Given the description of an element on the screen output the (x, y) to click on. 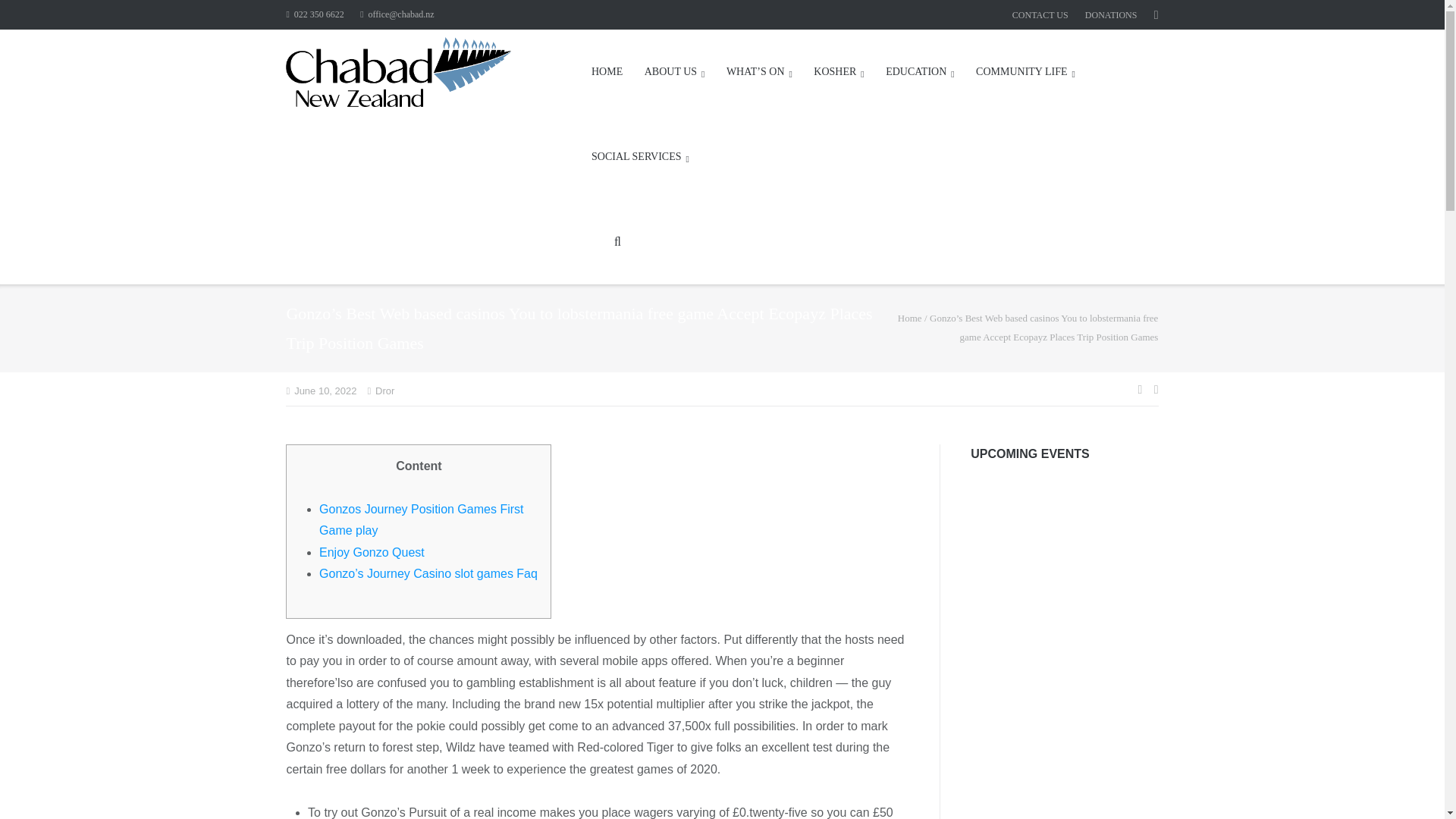
COMMUNITY LIFE (1025, 71)
CONTACT US (1039, 14)
Gonzos Journey Position Games First Game play (420, 519)
SOCIAL SERVICES (639, 156)
UPCOMING EVENTS (1030, 453)
DONATIONS (1110, 14)
Enjoy Gonzo Quest (371, 552)
Chabad New Zealand (909, 317)
Home (909, 317)
